Given the description of an element on the screen output the (x, y) to click on. 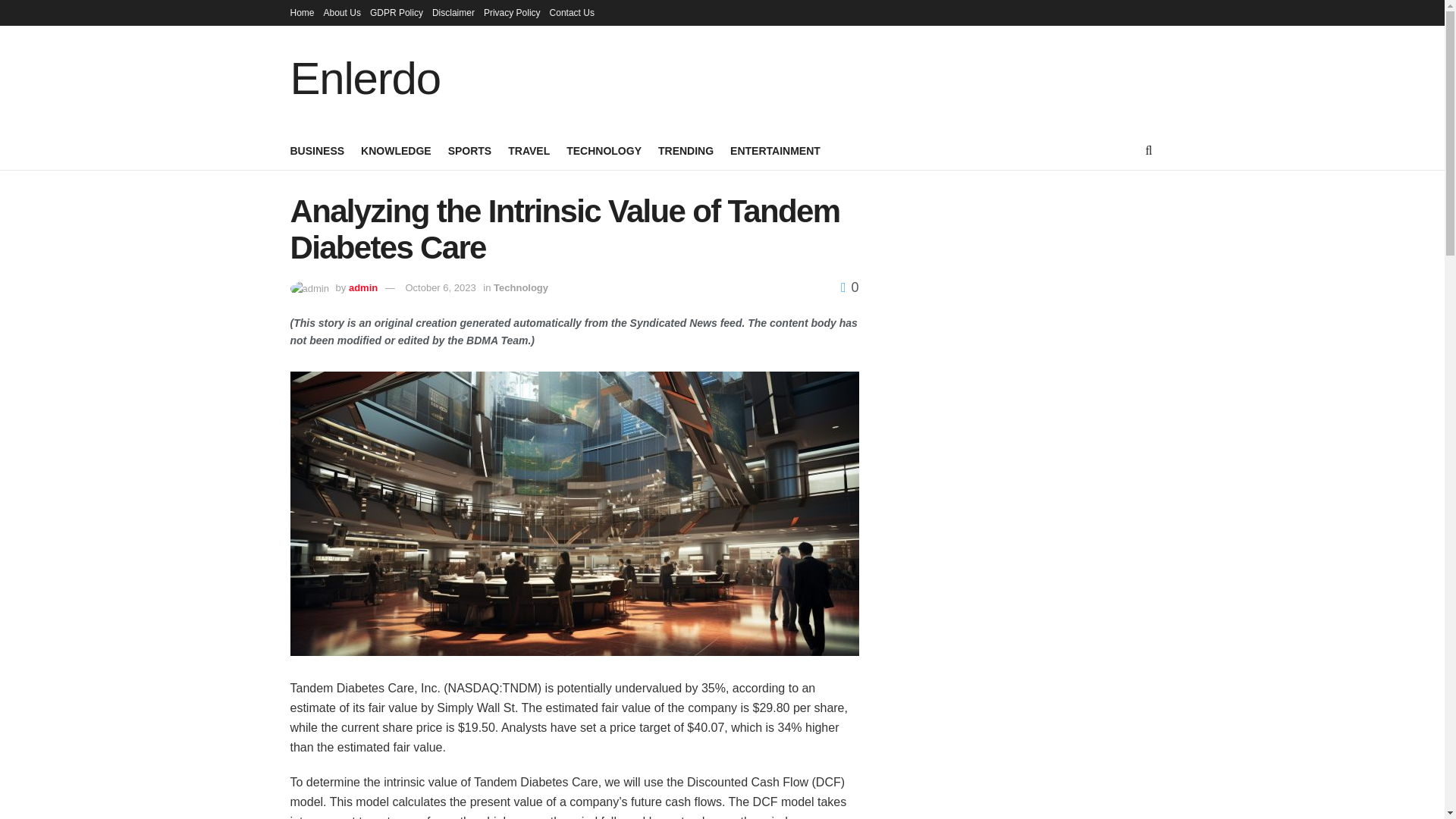
BUSINESS (316, 150)
Home (301, 12)
Privacy Policy (511, 12)
GDPR Policy (396, 12)
About Us (342, 12)
Enlerdo (364, 78)
Disclaimer (453, 12)
TECHNOLOGY (604, 150)
TRENDING (685, 150)
October 6, 2023 (440, 287)
